Given the description of an element on the screen output the (x, y) to click on. 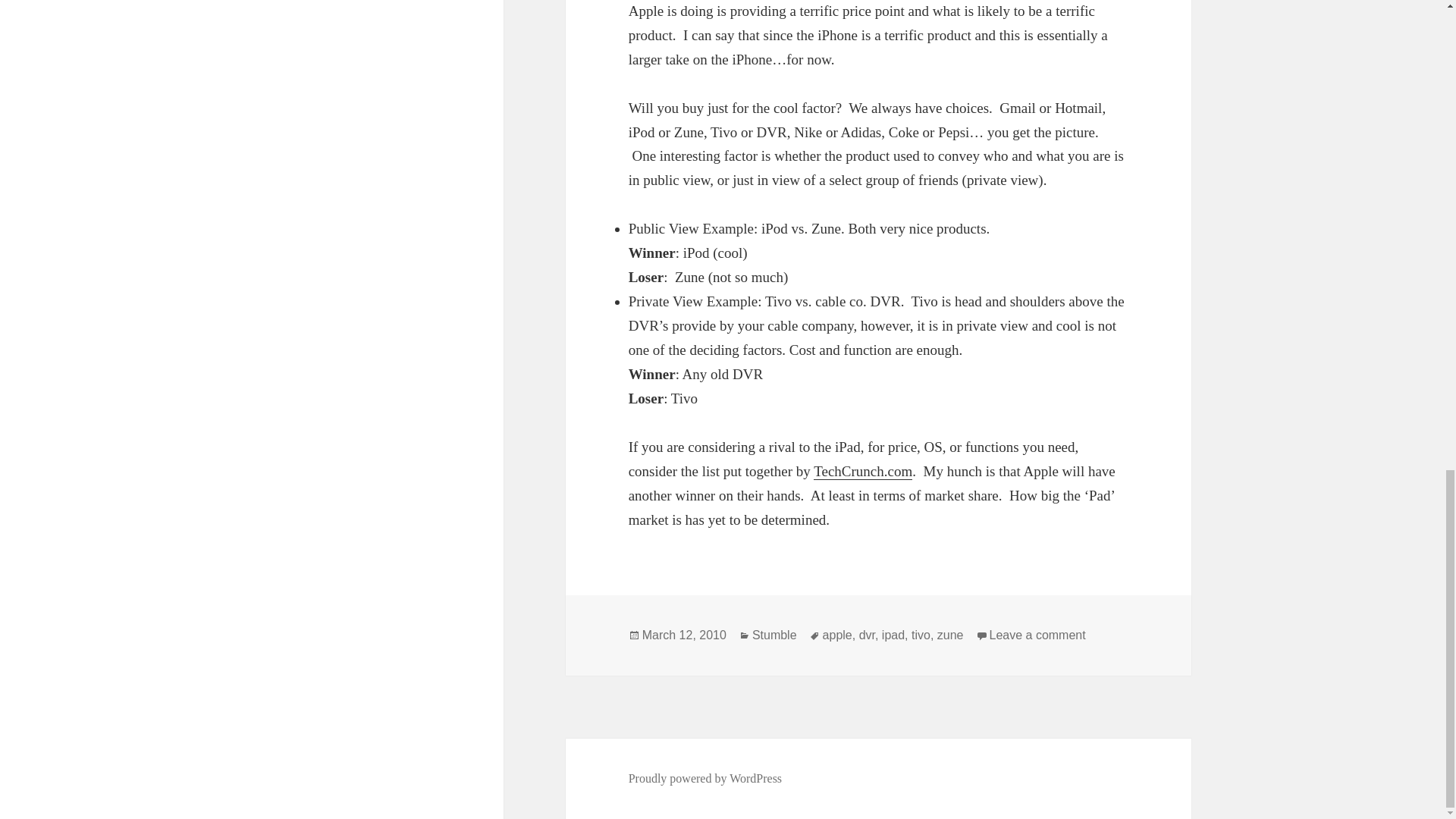
Proudly powered by WordPress (704, 778)
ipad (893, 635)
Seven alternatives to the iPad (862, 471)
zune (950, 635)
apple (836, 635)
TechCrunch.com (862, 471)
March 12, 2010 (684, 635)
tivo (920, 635)
Stumble (774, 635)
dvr (867, 635)
